Given the description of an element on the screen output the (x, y) to click on. 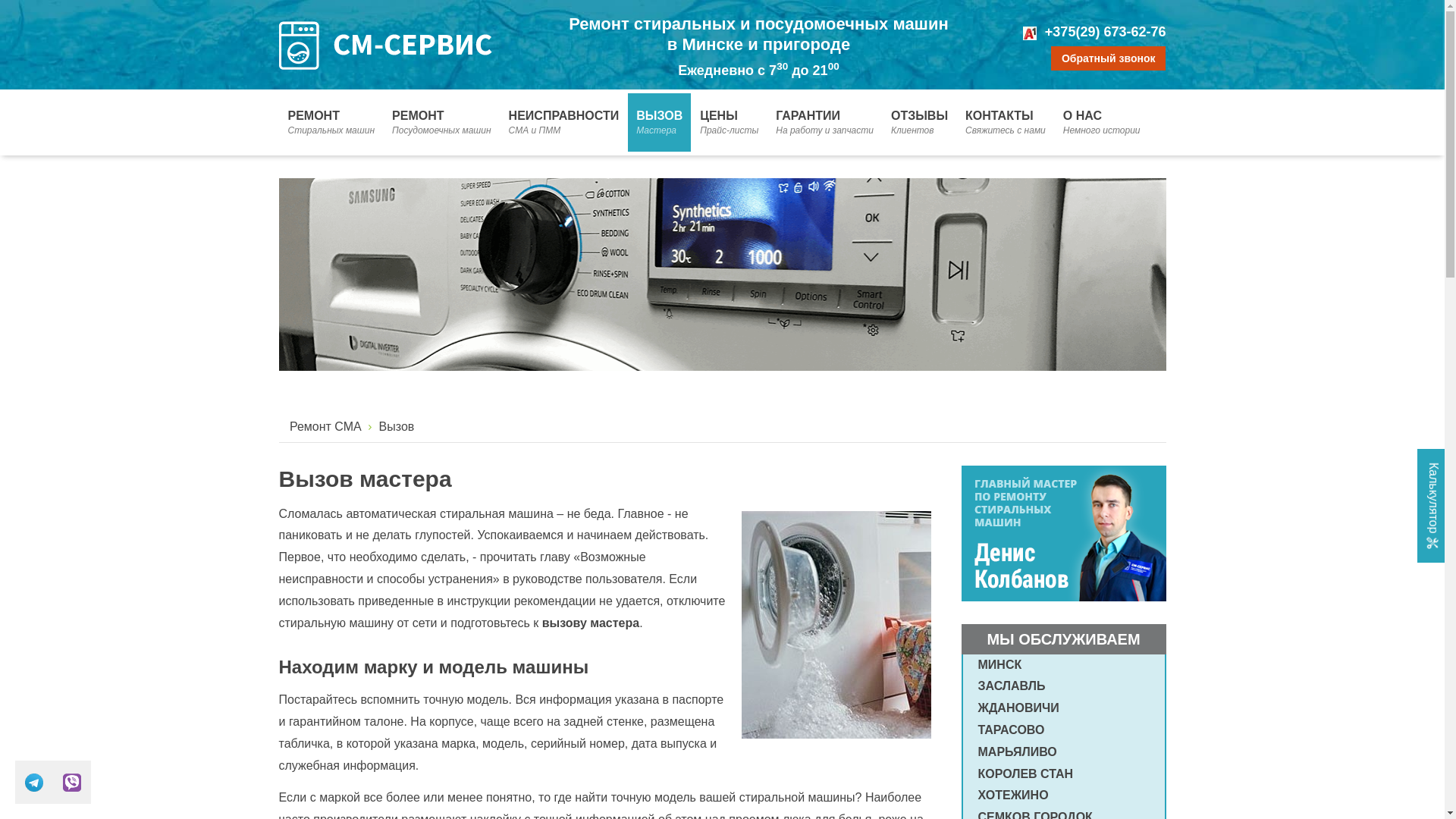
+375(29) 673-62-76 Element type: text (1105, 31)
